Given the description of an element on the screen output the (x, y) to click on. 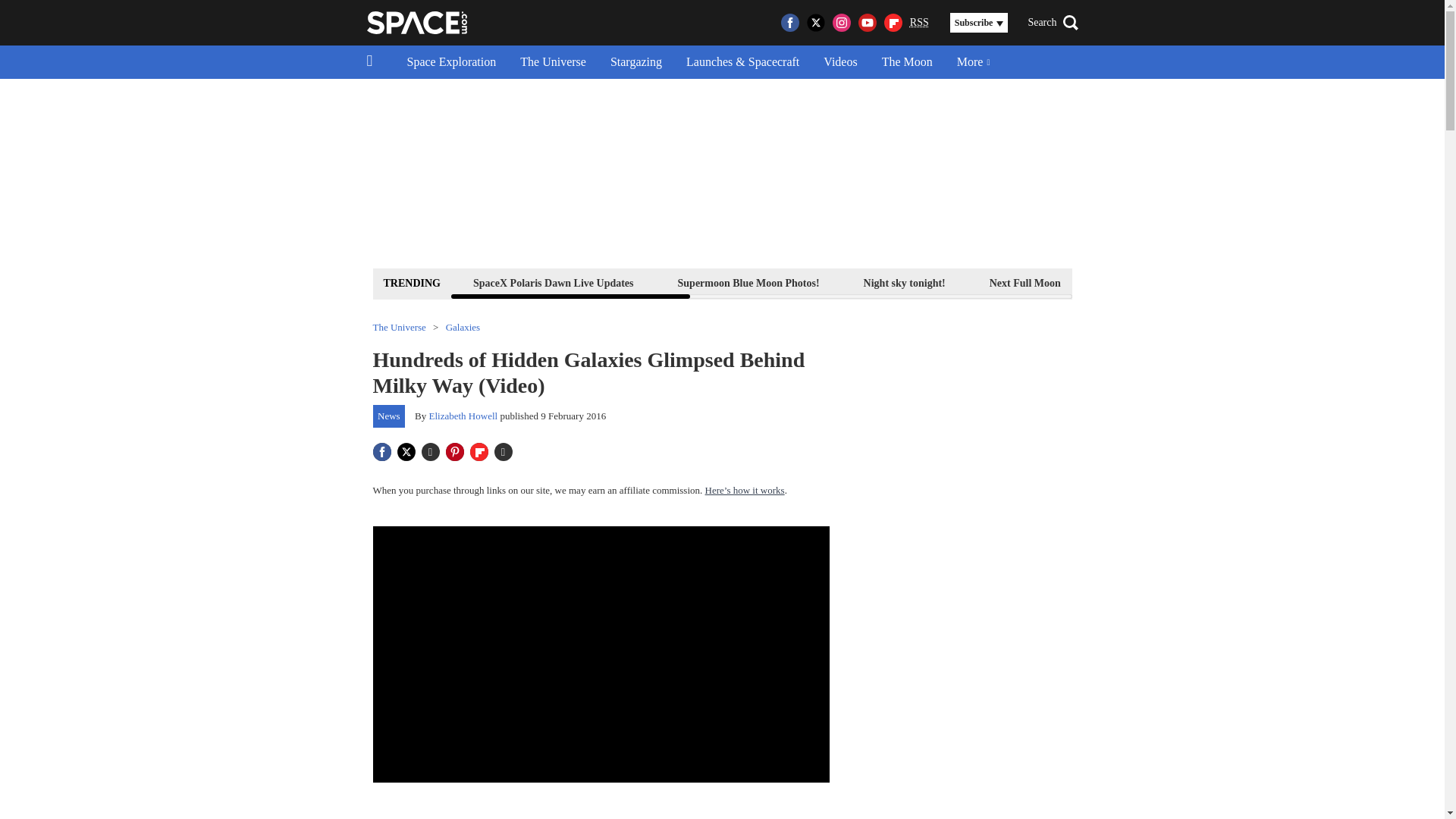
Stargazing (636, 61)
Supermoon Blue Moon Photos! (748, 282)
SpaceX Polaris Dawn Live Updates (553, 282)
Space Exploration (451, 61)
Best Binoculars (1253, 282)
Night sky tonight! (904, 282)
The Universe (553, 61)
Videos (839, 61)
Best Star Projectors (1378, 282)
Next Full Moon (1024, 282)
